Given the description of an element on the screen output the (x, y) to click on. 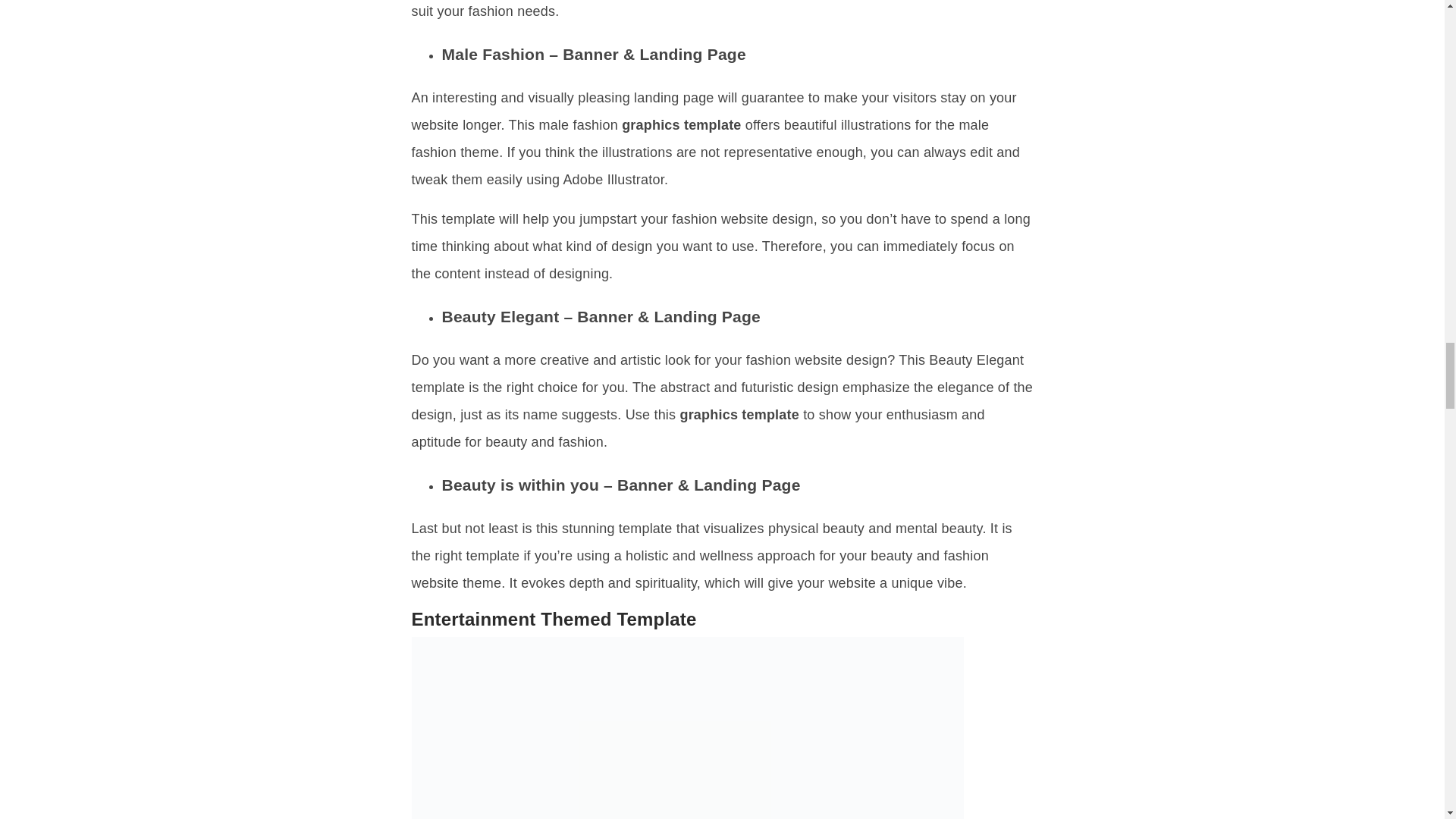
Graphics Template (686, 728)
